Given the description of an element on the screen output the (x, y) to click on. 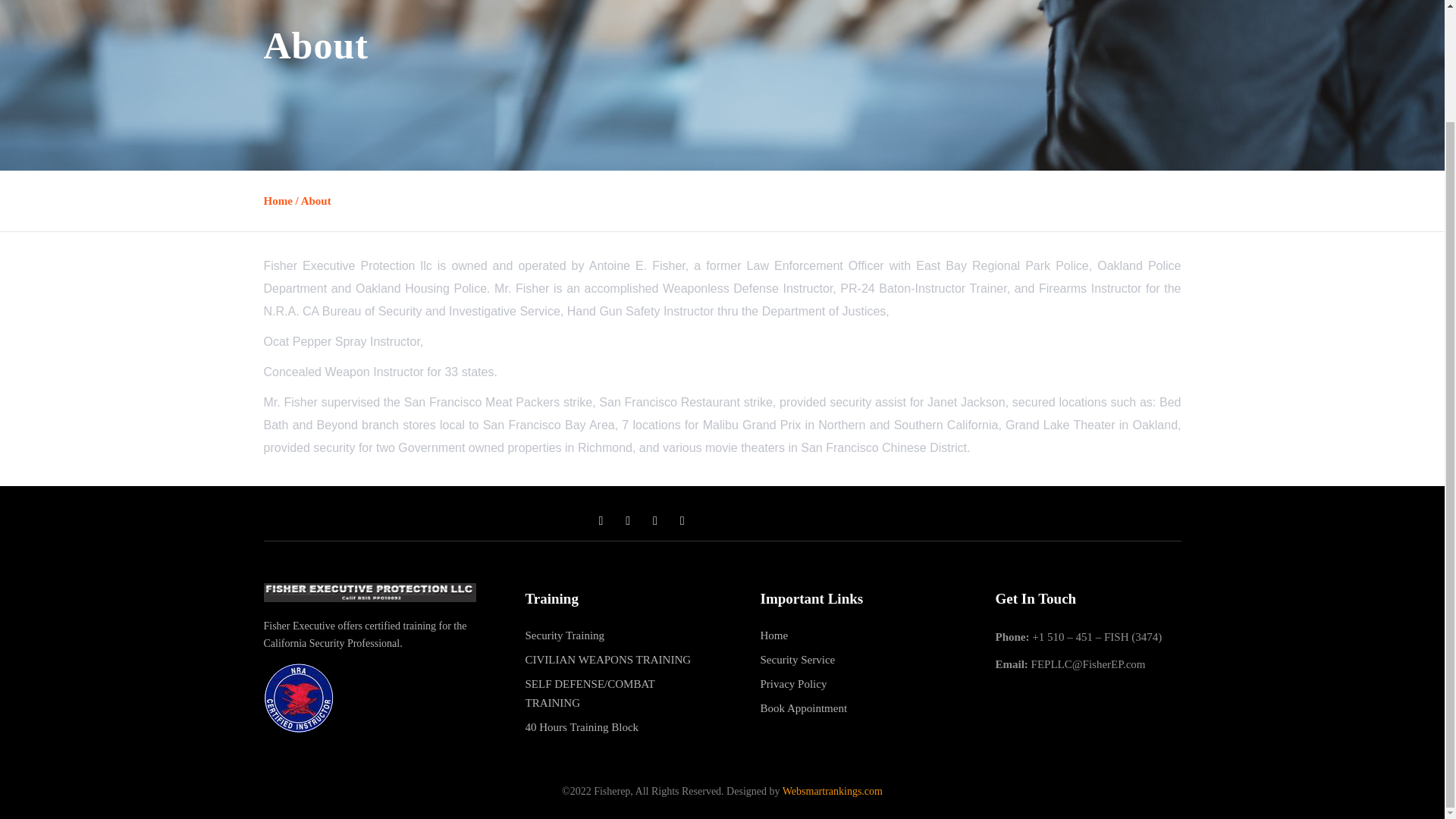
40 Hours Training Block (581, 727)
Security Service (797, 659)
CIVILIAN WEAPONS TRAINING (607, 659)
Book Appointment (803, 708)
Privacy Policy (793, 683)
Security Training (564, 635)
Websmartrankings.com (832, 790)
Home (277, 200)
Home (773, 635)
